Given the description of an element on the screen output the (x, y) to click on. 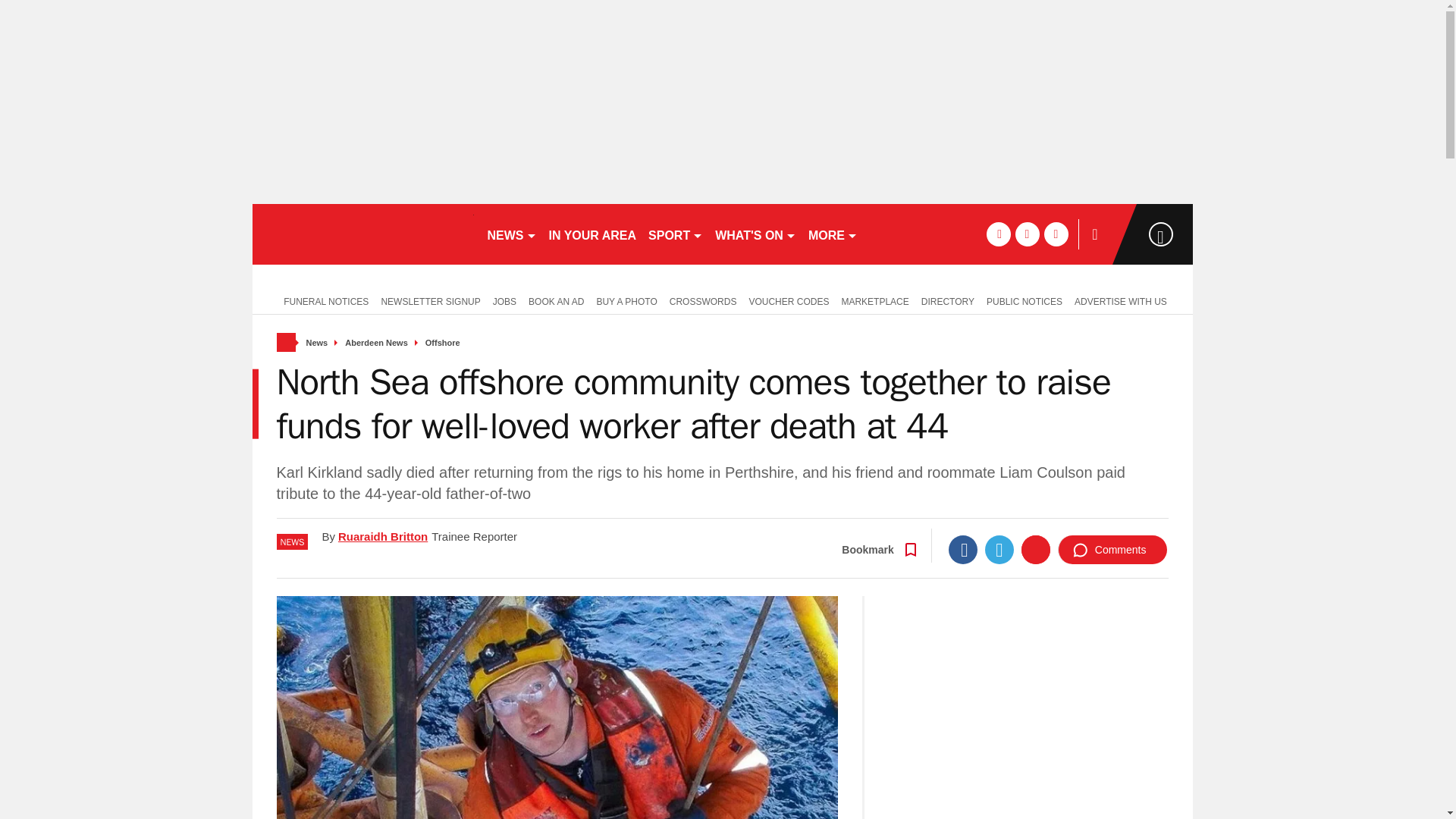
BUY A PHOTO (625, 300)
aberdeenlive (362, 233)
SPORT (675, 233)
IN YOUR AREA (593, 233)
twitter (1026, 233)
Comments (1112, 549)
facebook (997, 233)
NEWSLETTER SIGNUP (430, 300)
BOOK AN AD (555, 300)
Facebook (962, 549)
WHAT'S ON (755, 233)
MORE (832, 233)
FUNERAL NOTICES (322, 300)
CROSSWORDS (702, 300)
instagram (1055, 233)
